Given the description of an element on the screen output the (x, y) to click on. 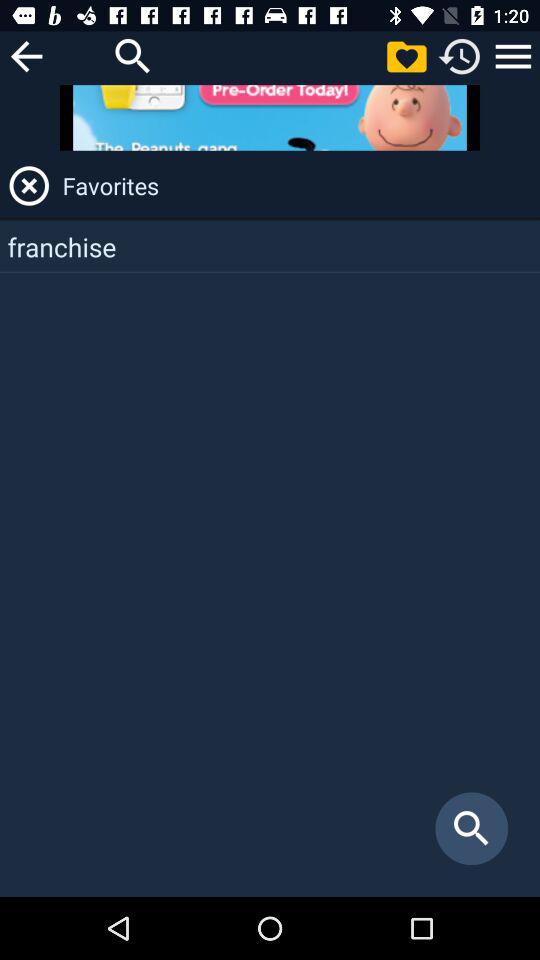
recents (460, 56)
